Given the description of an element on the screen output the (x, y) to click on. 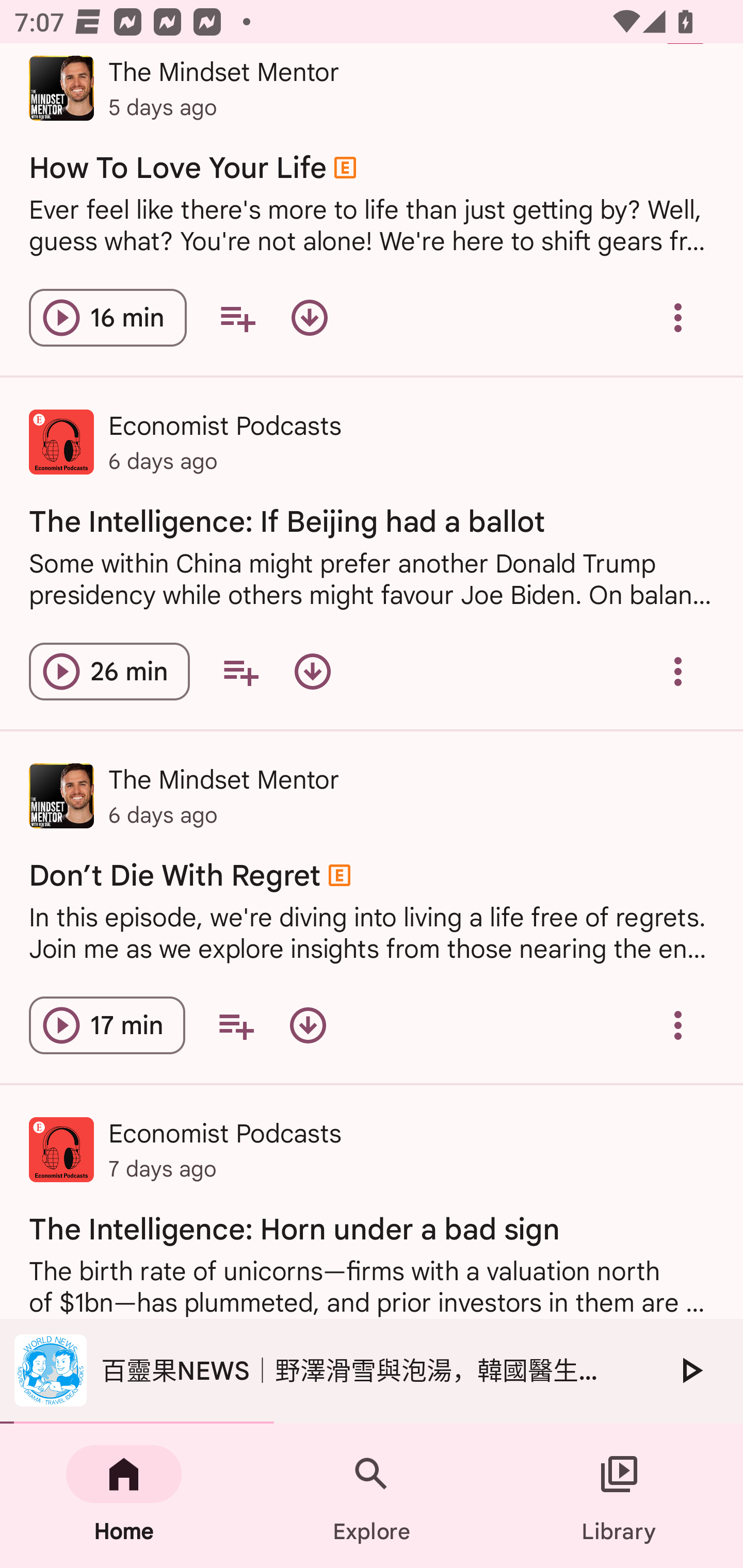
Play episode How To Love Your Life 16 min (107, 317)
Add to your queue (237, 317)
Download episode (309, 317)
Overflow menu (677, 317)
Add to your queue (240, 671)
Download episode (312, 671)
Overflow menu (677, 671)
Play episode Don’t Die With Regret 17 min (106, 1025)
Add to your queue (235, 1025)
Download episode (307, 1025)
Overflow menu (677, 1025)
Play (690, 1370)
Explore (371, 1495)
Library (619, 1495)
